Given the description of an element on the screen output the (x, y) to click on. 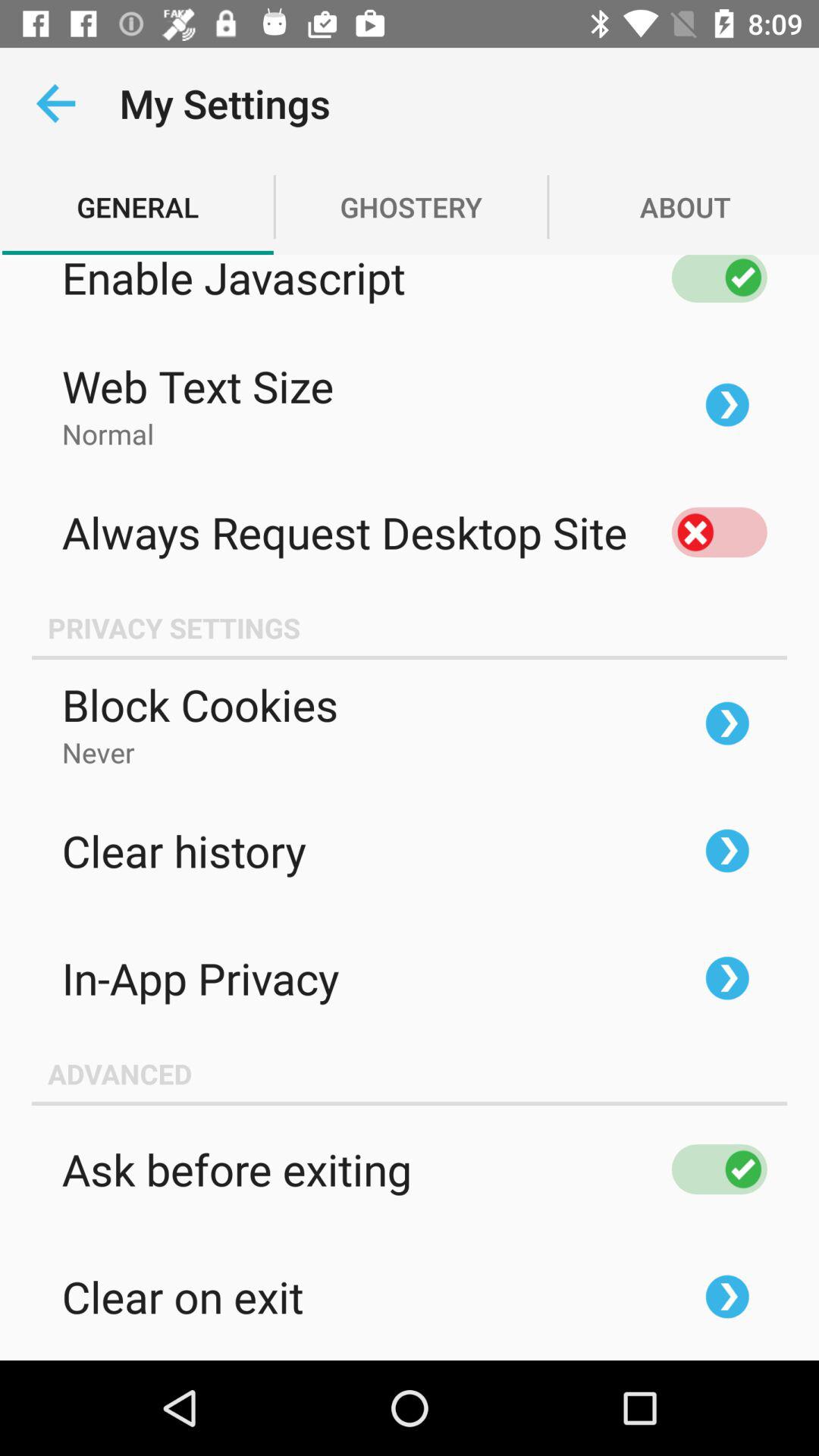
press the app next to the my settings (55, 103)
